Given the description of an element on the screen output the (x, y) to click on. 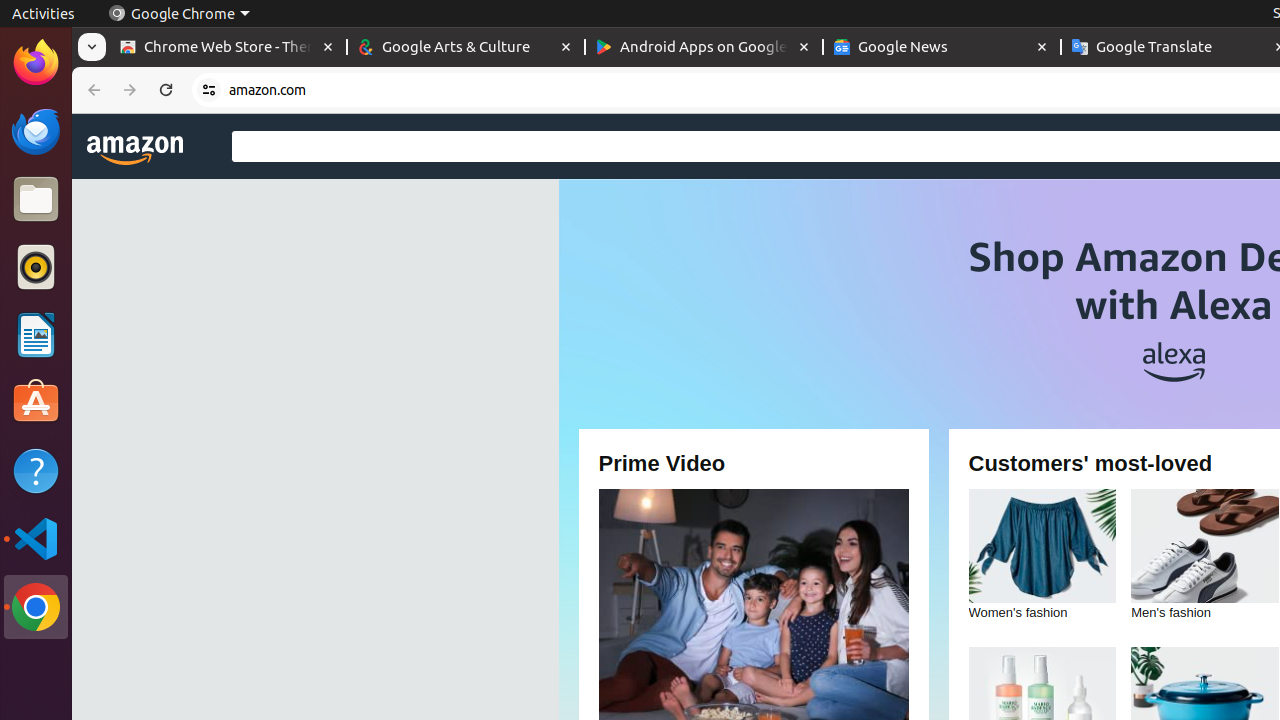
Forward Element type: push-button (130, 90)
Google Arts & Culture - Memory usage - 57.6 MB Element type: page-tab (466, 47)
